Given the description of an element on the screen output the (x, y) to click on. 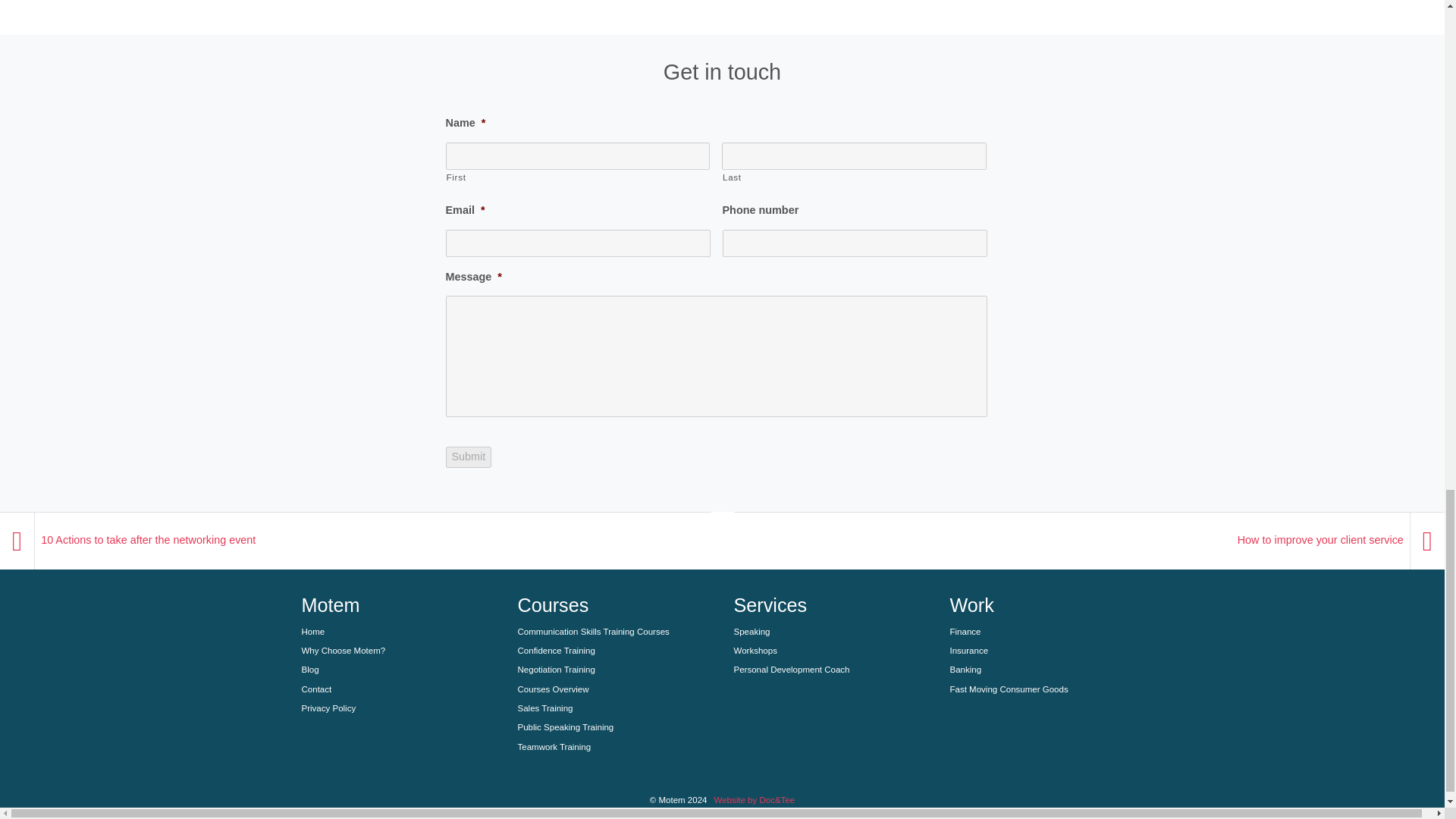
Why Choose Motem? (398, 650)
How to improve your client service (1320, 540)
Privacy Policy (398, 708)
10 Actions to take after the networking event (148, 540)
Submit (468, 456)
Blog (398, 669)
Home (398, 631)
Communication Skills Training Courses (613, 631)
Submit (468, 456)
Contact (398, 689)
